Given the description of an element on the screen output the (x, y) to click on. 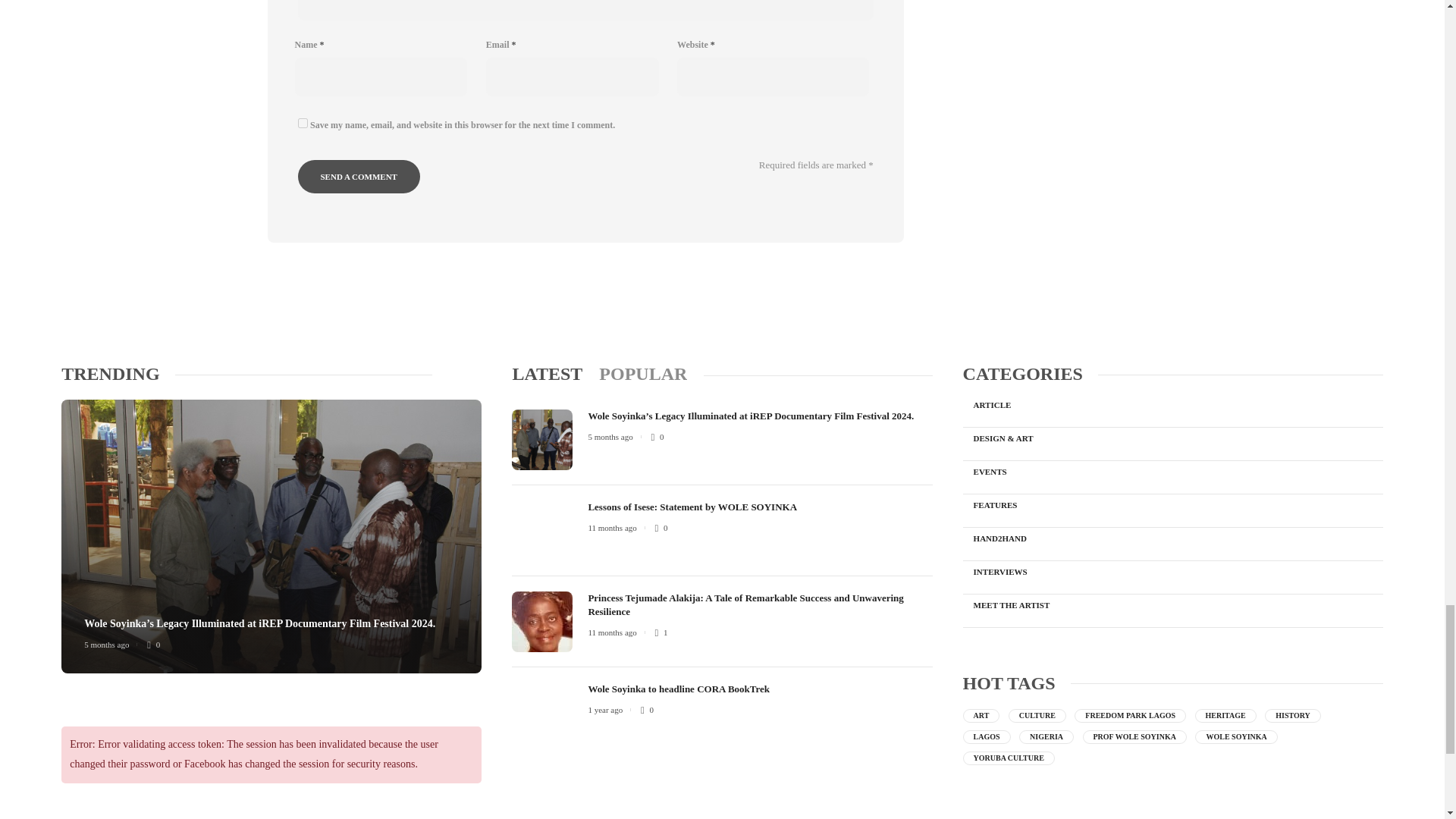
Send a comment (358, 176)
yes (302, 122)
